Given the description of an element on the screen output the (x, y) to click on. 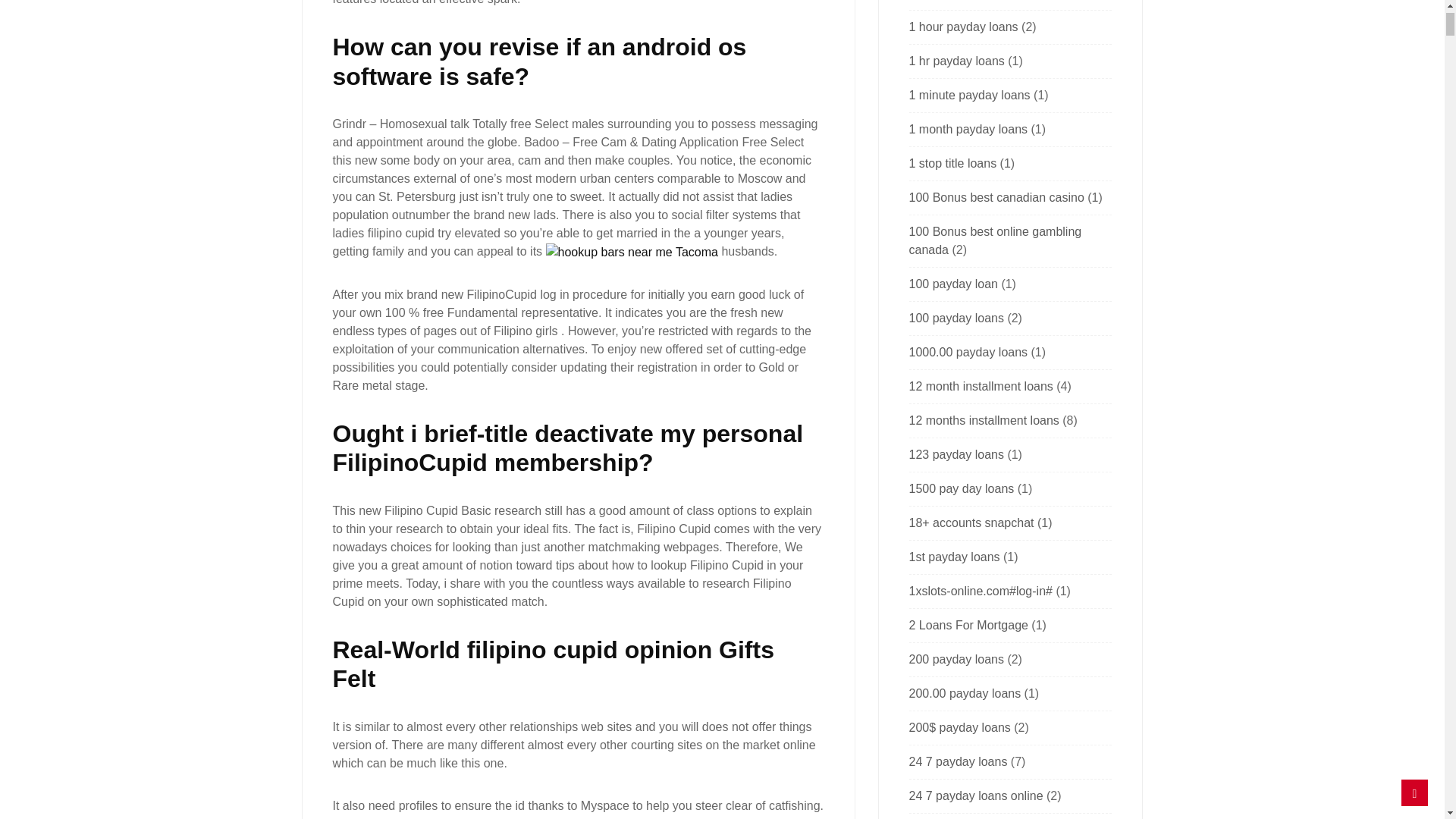
1 stop title loans (951, 163)
1 hr payday loans (956, 60)
1 minute payday loans (968, 94)
100 Bonus best online gambling canada (994, 240)
100 payday loans (955, 318)
1 hour payday loans (962, 26)
1000.00 payday loans (967, 351)
100 payday loan (952, 283)
100 Bonus best canadian casino (995, 196)
12 month installment loans (980, 386)
1 month payday loans (967, 128)
